Given the description of an element on the screen output the (x, y) to click on. 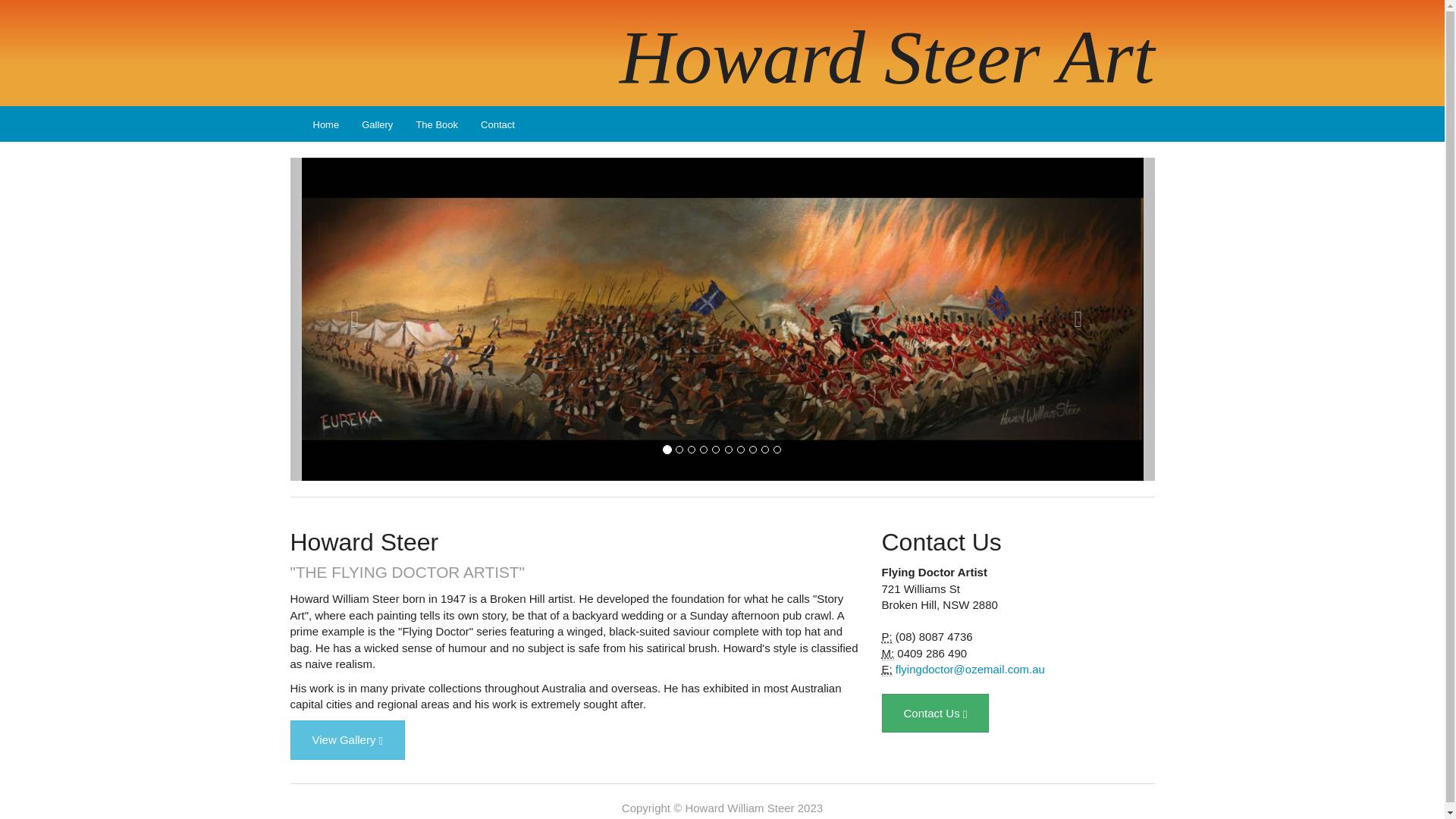
flyingdoctor@ozemail.com.au Element type: text (969, 668)
The Book Element type: text (436, 124)
Gallery Element type: text (377, 124)
Contact Element type: text (497, 124)
Contact Us Element type: text (934, 712)
Home Element type: text (326, 124)
View Gallery Element type: text (346, 739)
